Given the description of an element on the screen output the (x, y) to click on. 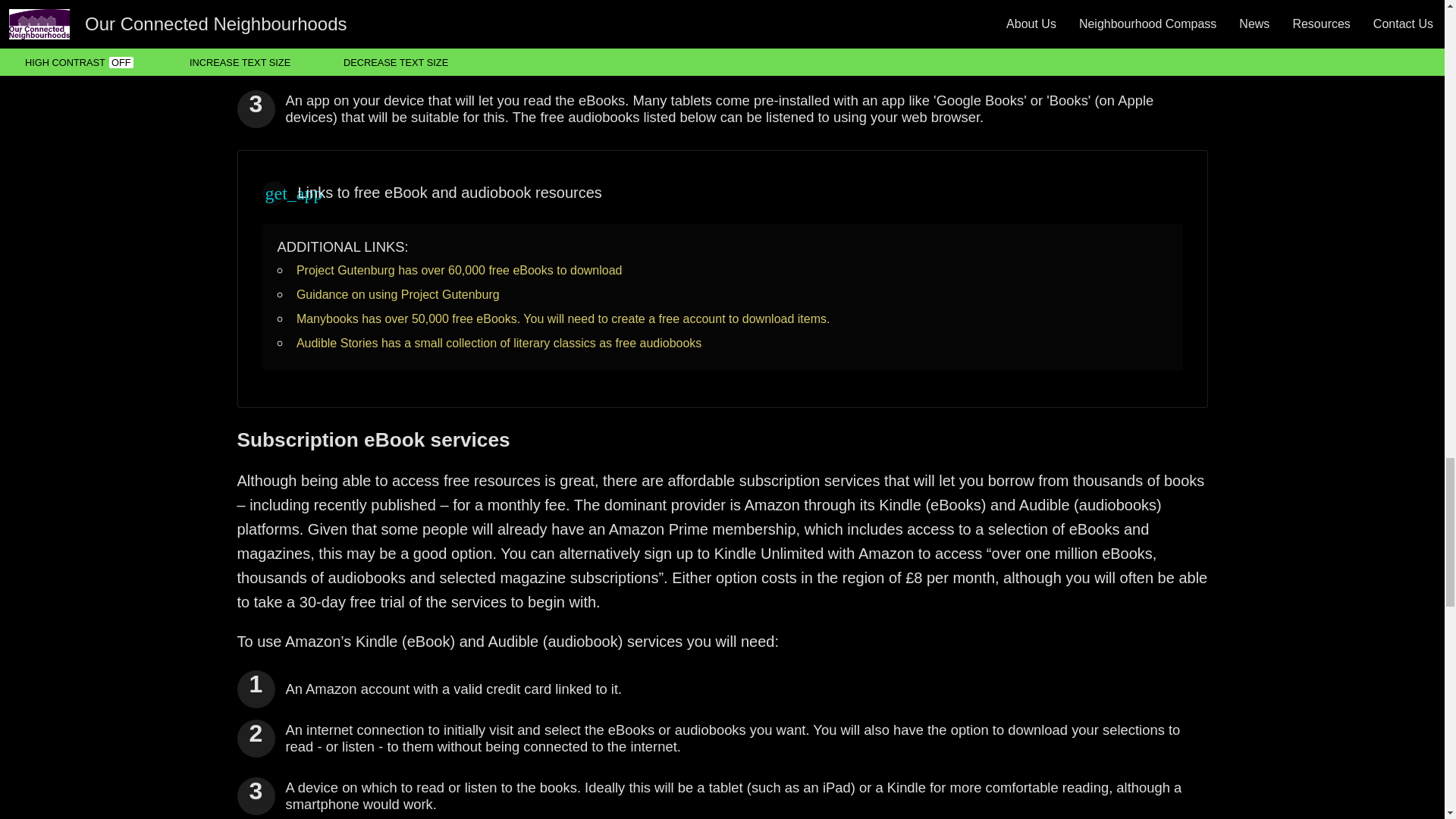
Project Gutenburg has over 60,000 free eBooks to download (460, 270)
Guidance on using Project Gutenburg (398, 294)
